Given the description of an element on the screen output the (x, y) to click on. 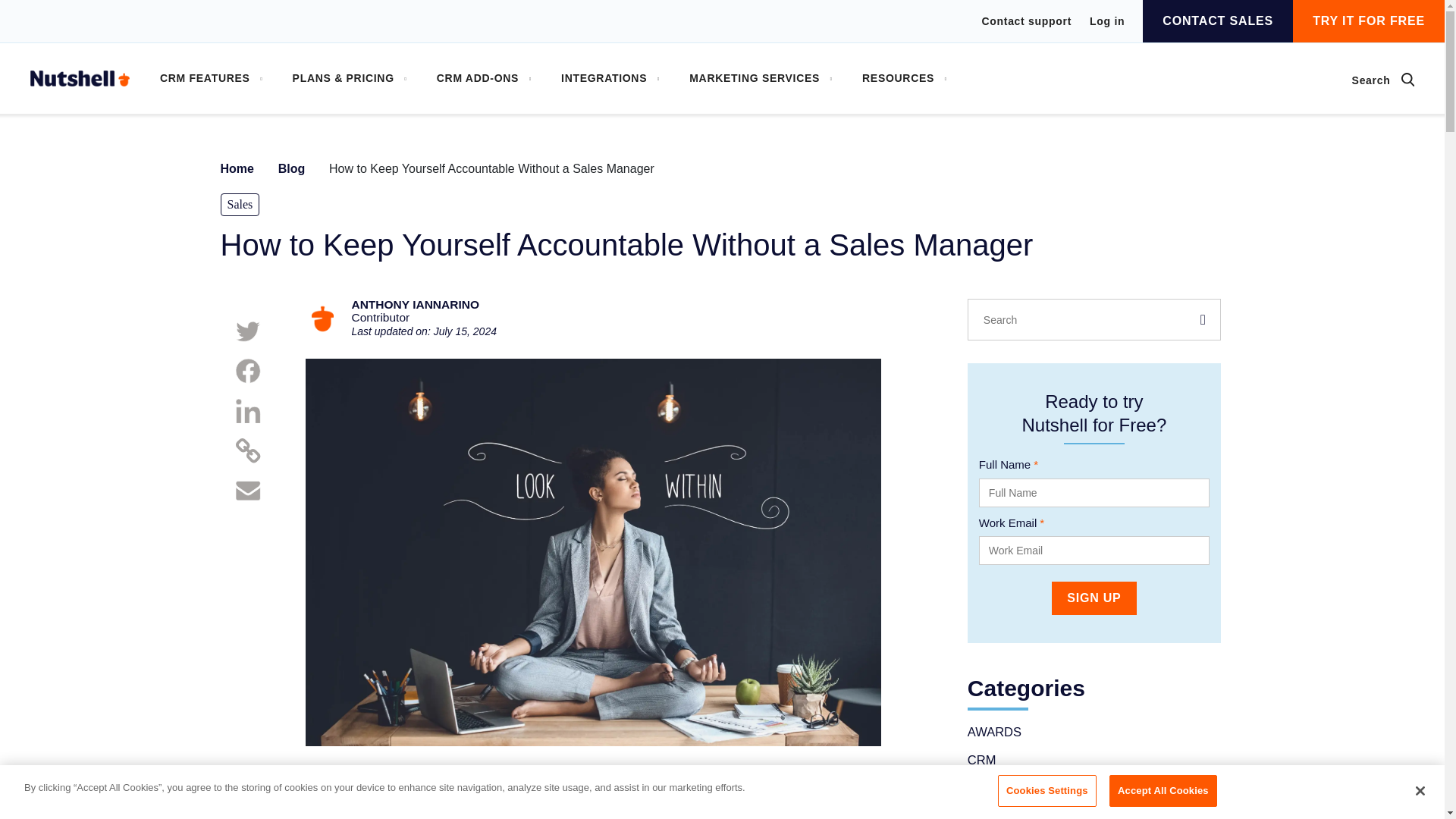
INTEGRATIONS (609, 78)
CRM FEATURES (211, 78)
CONTACT SALES (1217, 21)
Sign Up (1093, 598)
Log in (1106, 20)
Contact support (1026, 21)
CRM ADD-ONS (483, 78)
